Given the description of an element on the screen output the (x, y) to click on. 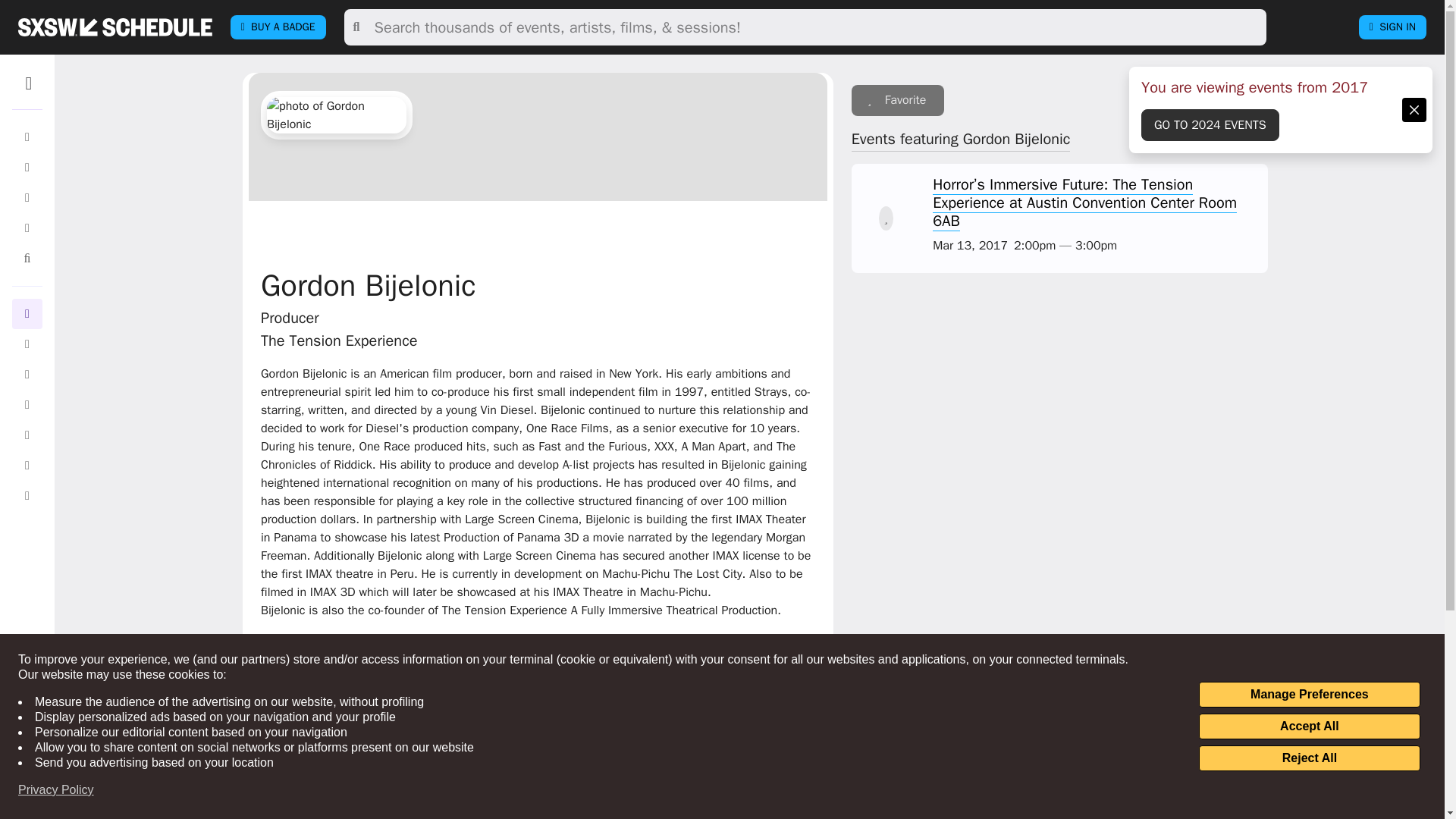
Reject All (1309, 758)
Privacy Policy (55, 789)
Manage Preferences (1309, 694)
Accept All (1309, 726)
BUY A BADGE (278, 27)
GO TO 2024 EVENTS (1210, 124)
sxsw SCHEDULE (114, 27)
Sign In to add to your favorites. (897, 100)
SIGN IN (1392, 27)
